Given the description of an element on the screen output the (x, y) to click on. 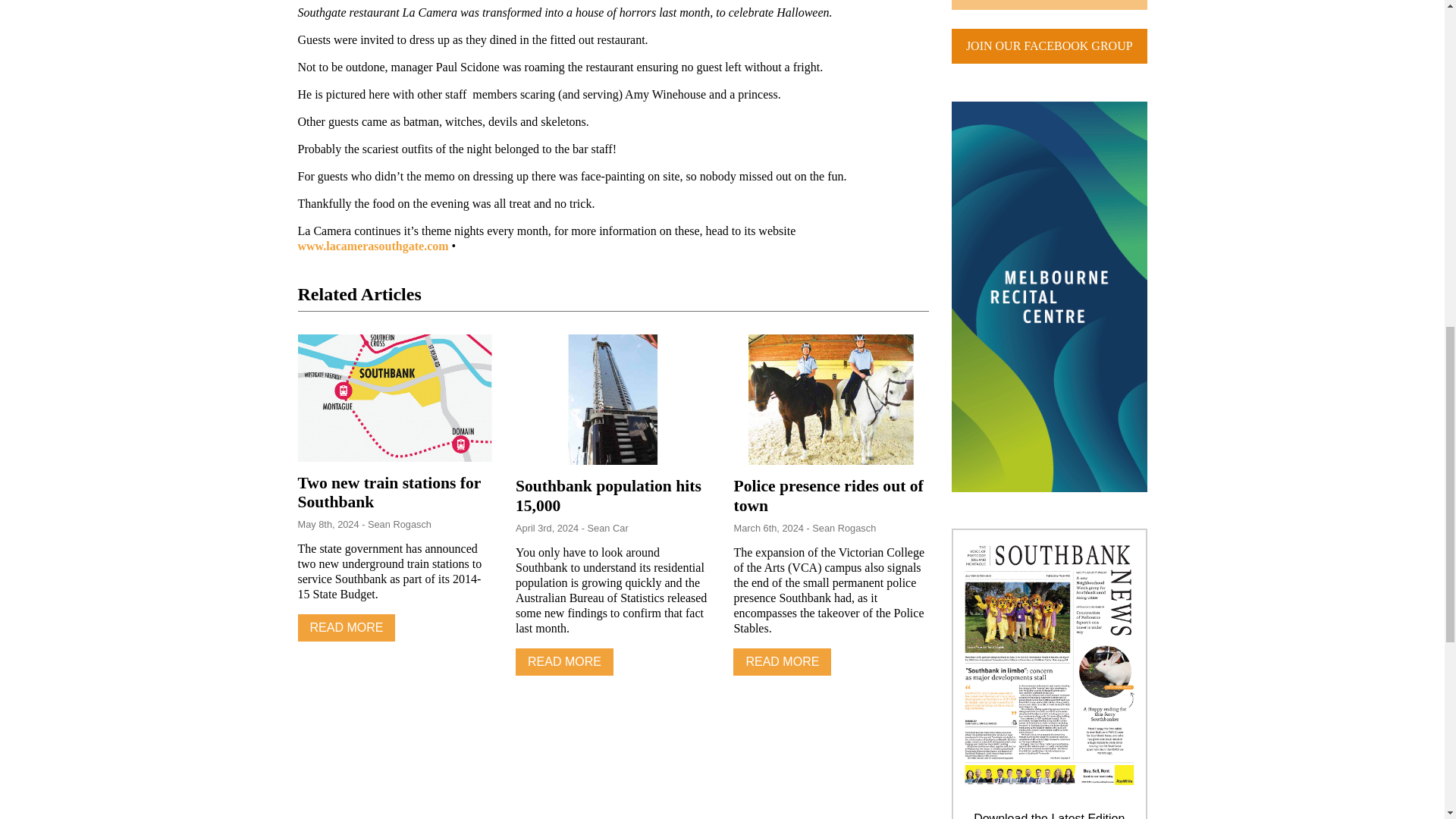
READ MORE (782, 661)
Southbank population hits 15,000 (608, 495)
Police presence rides out of town (828, 495)
READ MORE (345, 627)
READ MORE (563, 661)
www.lacamerasouthgate.com (372, 245)
SIGN UP (1049, 4)
Two new train stations for Southbank (388, 492)
JOIN OUR FACEBOOK GROUP (1049, 45)
